Given the description of an element on the screen output the (x, y) to click on. 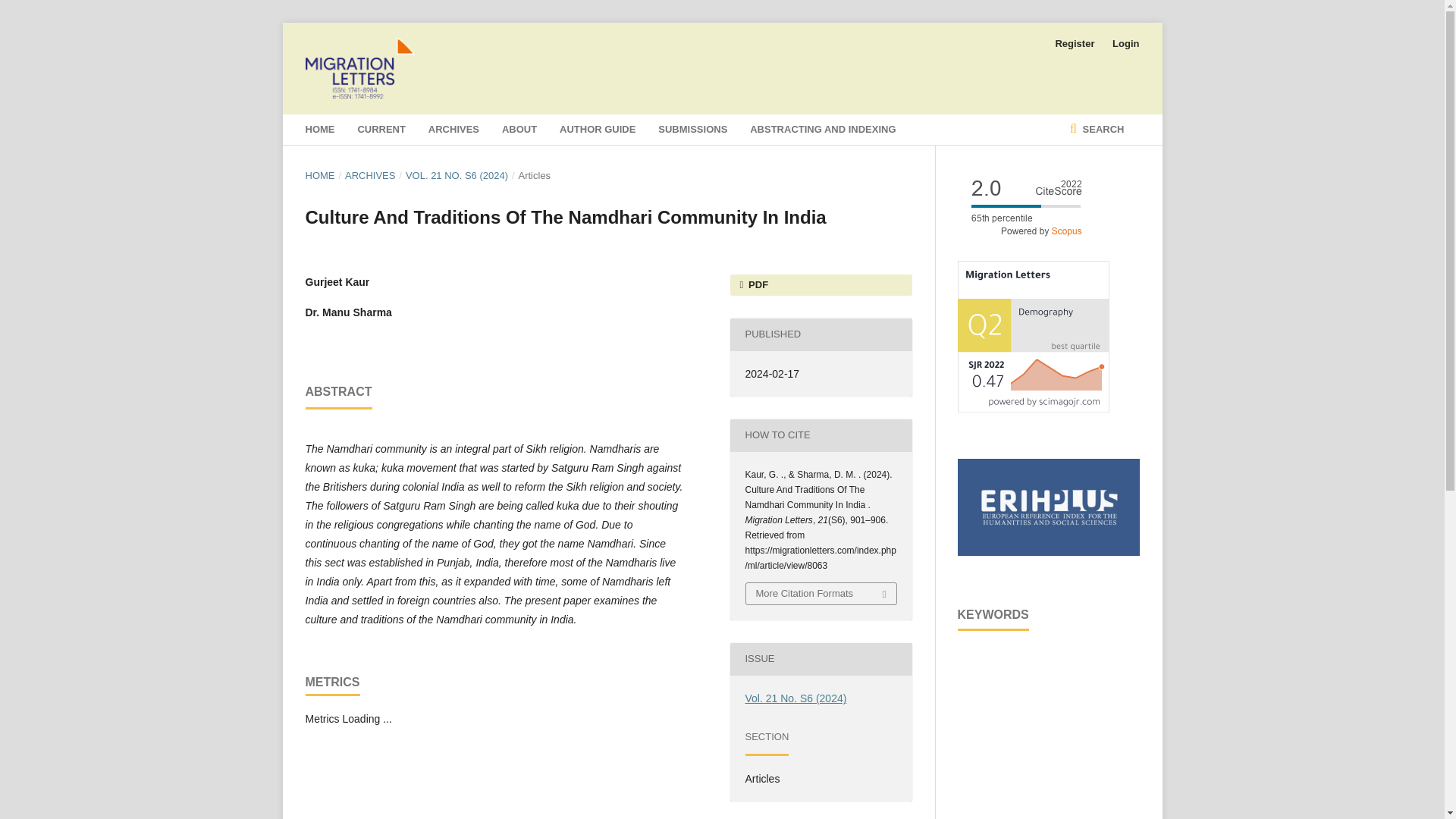
ARCHIVES (369, 175)
PDF (820, 284)
Register (1074, 43)
ABOUT (519, 129)
AUTHOR GUIDE (596, 129)
ARCHIVES (453, 129)
CURRENT (381, 129)
More Citation Formats (820, 593)
HOME (319, 175)
HOME (319, 129)
ABSTRACTING AND INDEXING (822, 129)
SUBMISSIONS (692, 129)
SEARCH (1096, 129)
Login (1121, 43)
